Given the description of an element on the screen output the (x, y) to click on. 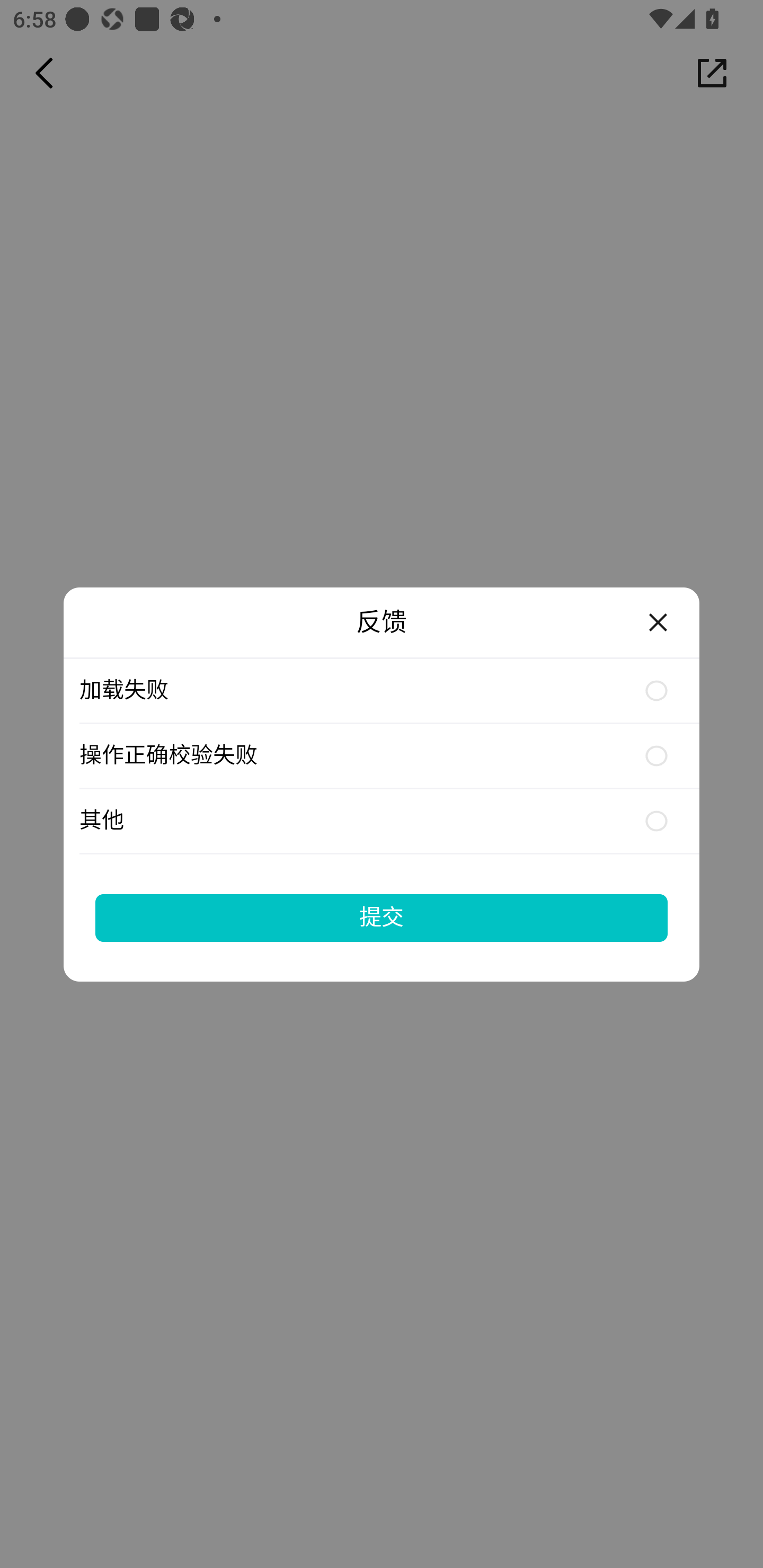
提交 (381, 917)
